Given the description of an element on the screen output the (x, y) to click on. 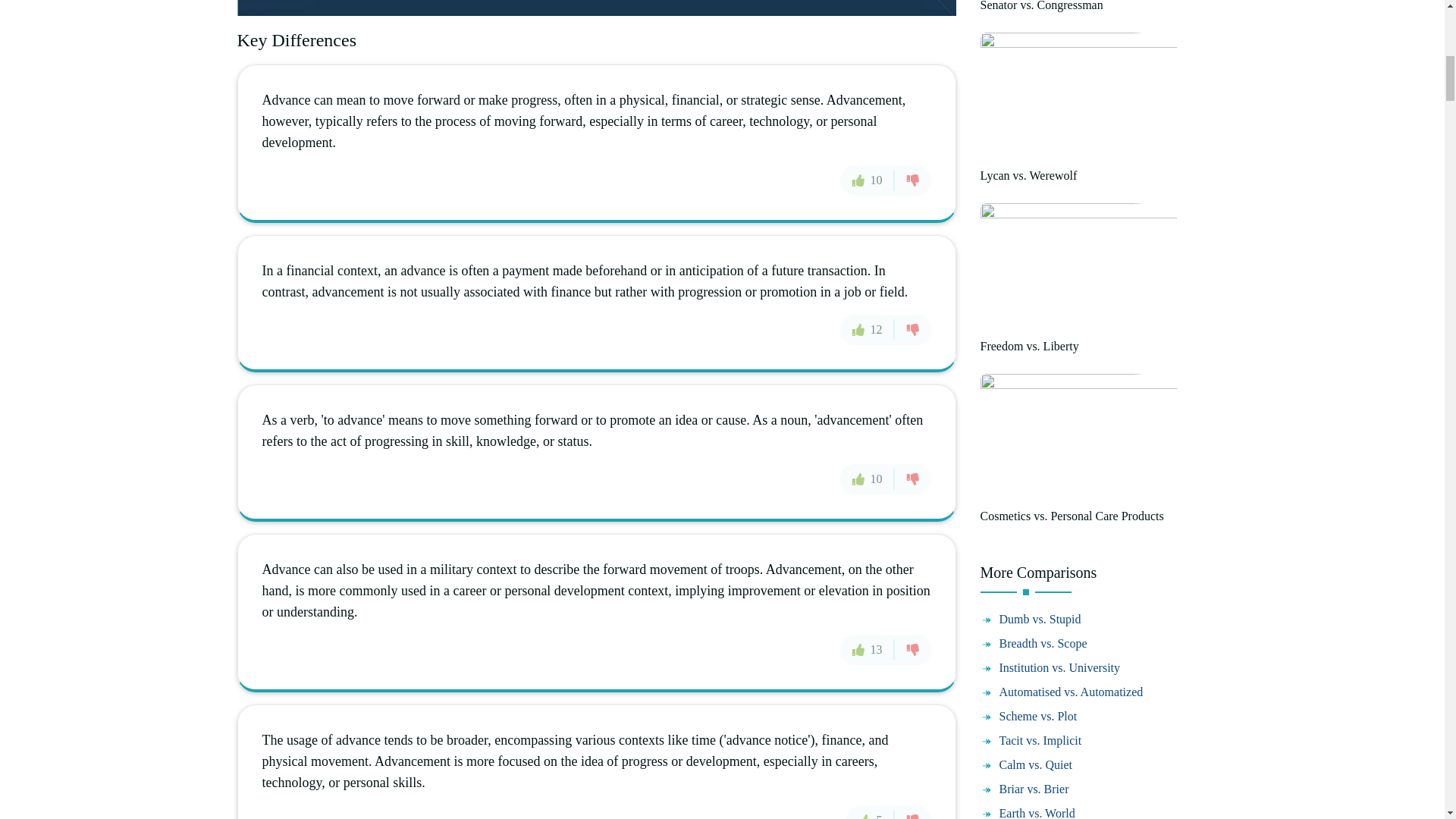
10 (867, 180)
12 (867, 329)
13 (867, 649)
10 (867, 479)
5 (870, 812)
